Given the description of an element on the screen output the (x, y) to click on. 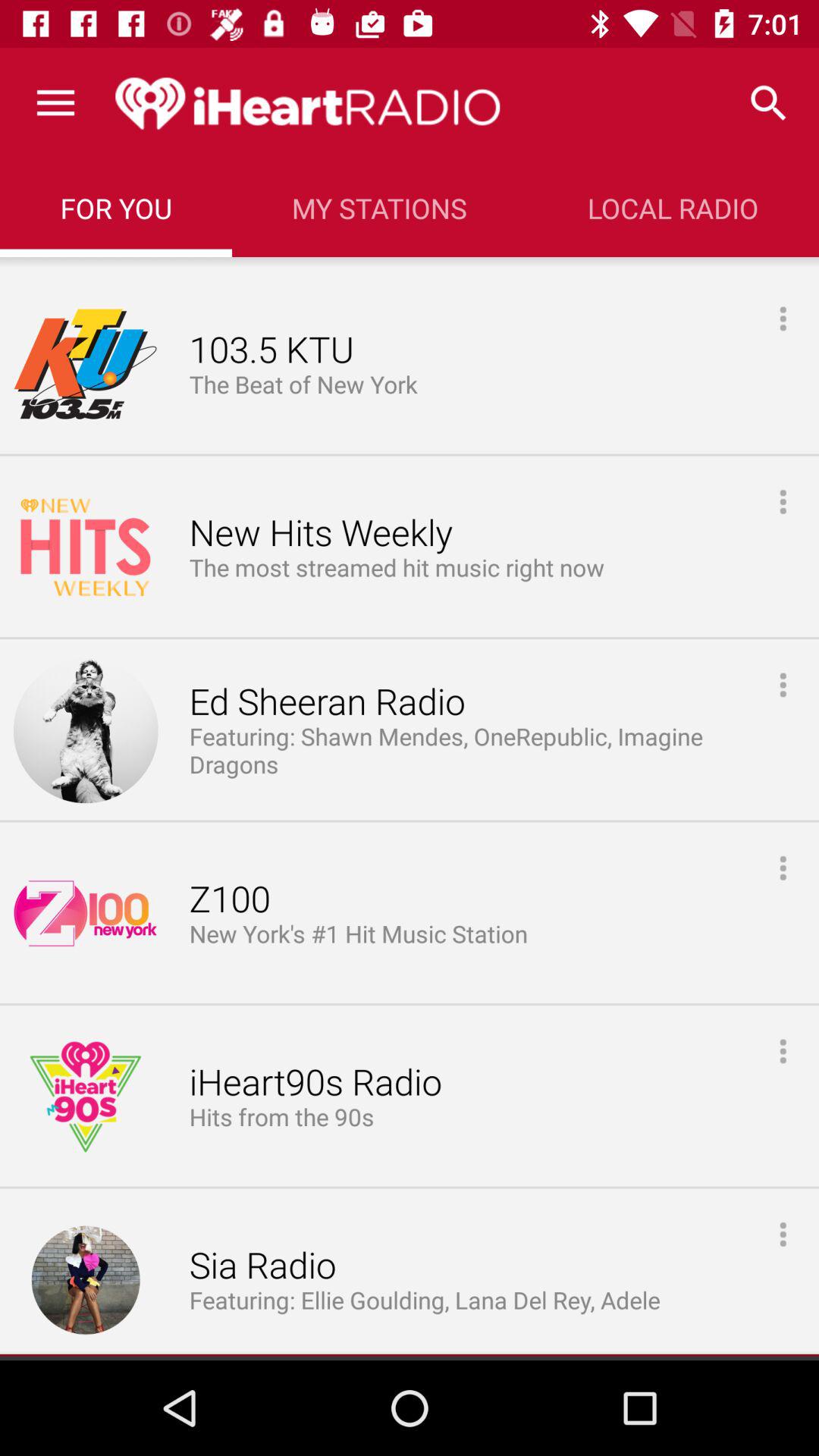
open the the most streamed icon (396, 568)
